Given the description of an element on the screen output the (x, y) to click on. 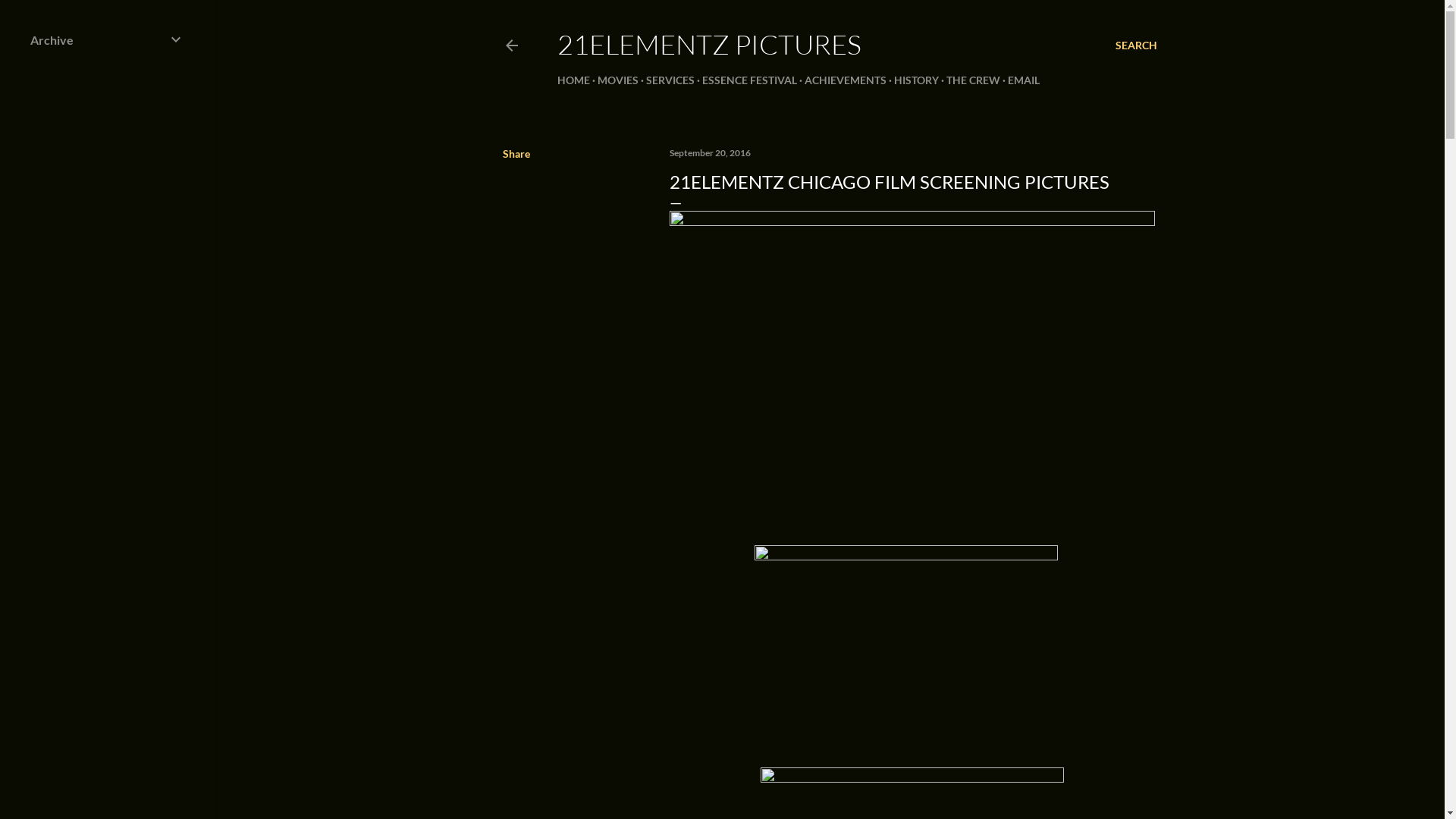
ACHIEVEMENTS Element type: text (845, 79)
ESSENCE FESTIVAL Element type: text (749, 79)
THE CREW Element type: text (973, 79)
September 20, 2016 Element type: text (709, 152)
MOVIES Element type: text (617, 79)
SERVICES Element type: text (670, 79)
SEARCH Element type: text (1136, 45)
HOME Element type: text (573, 79)
21ELEMENTZ PICTURES Element type: text (709, 43)
HISTORY Element type: text (916, 79)
Share Element type: text (516, 153)
EMAIL Element type: text (1023, 79)
